Given the description of an element on the screen output the (x, y) to click on. 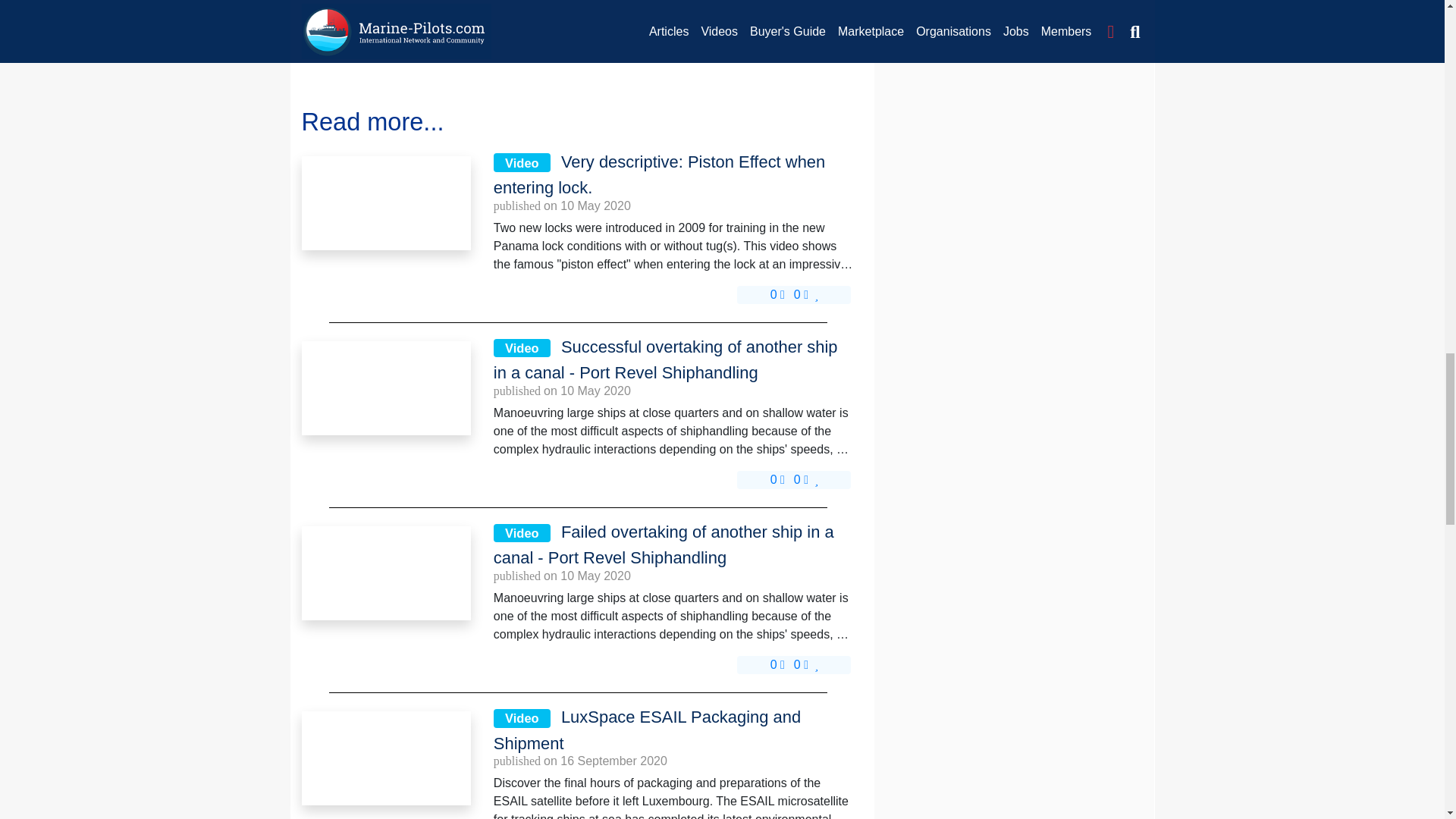
Video Very descriptive: Piston Effect when entering lock. (674, 175)
Login (323, 42)
Very descriptive: Piston Effect when entering lock. (385, 203)
0 (777, 294)
LuxSpace ESAIL Packaging and Shipment (385, 758)
register (376, 42)
